Given the description of an element on the screen output the (x, y) to click on. 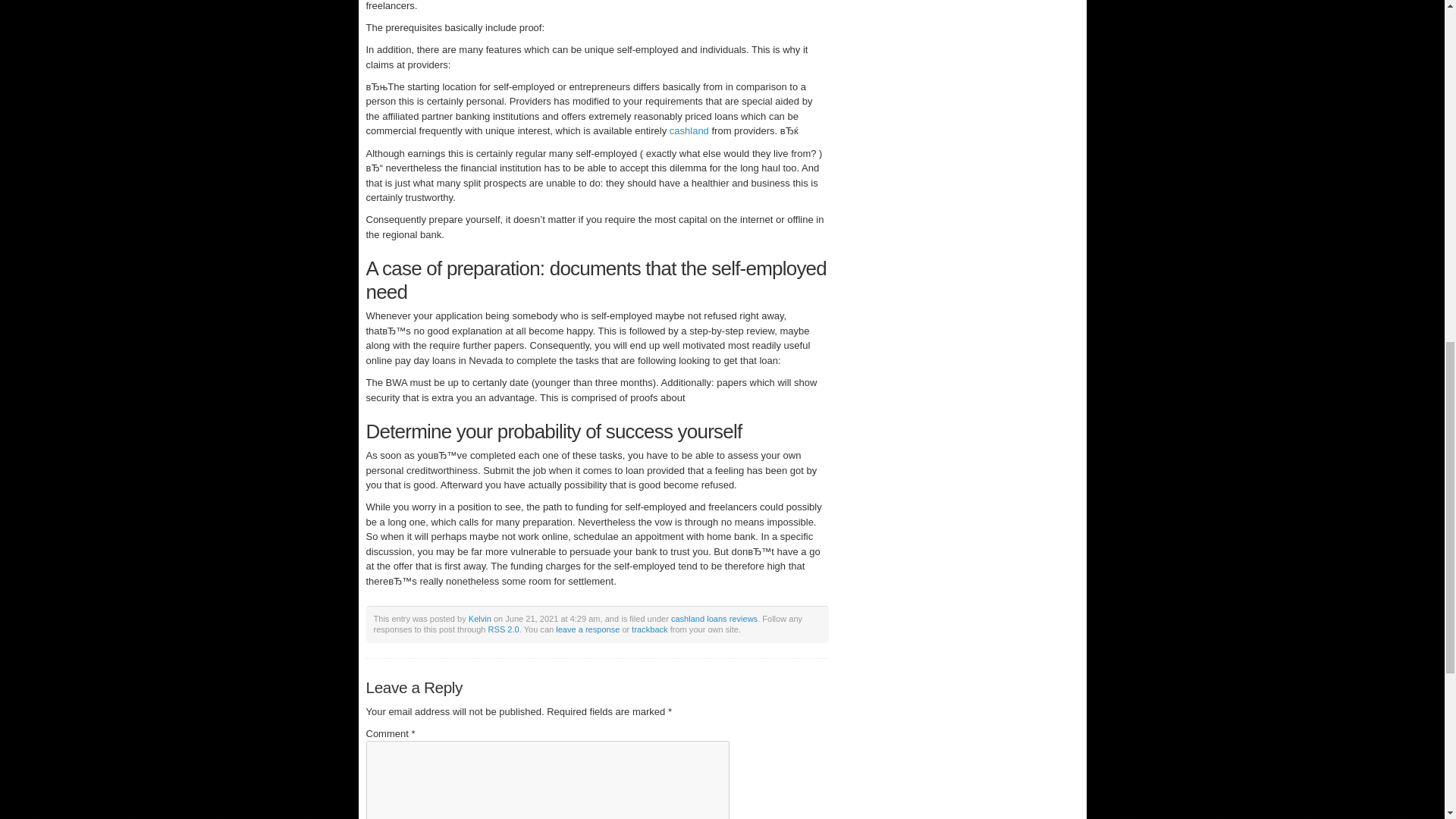
trackback (648, 628)
RSS 2.0 (503, 628)
leave a response (588, 628)
RSS 2.0 (503, 628)
cashland loans reviews (714, 618)
cashland (689, 130)
Posts by Kelvin  (480, 618)
Kelvin (480, 618)
